Given the description of an element on the screen output the (x, y) to click on. 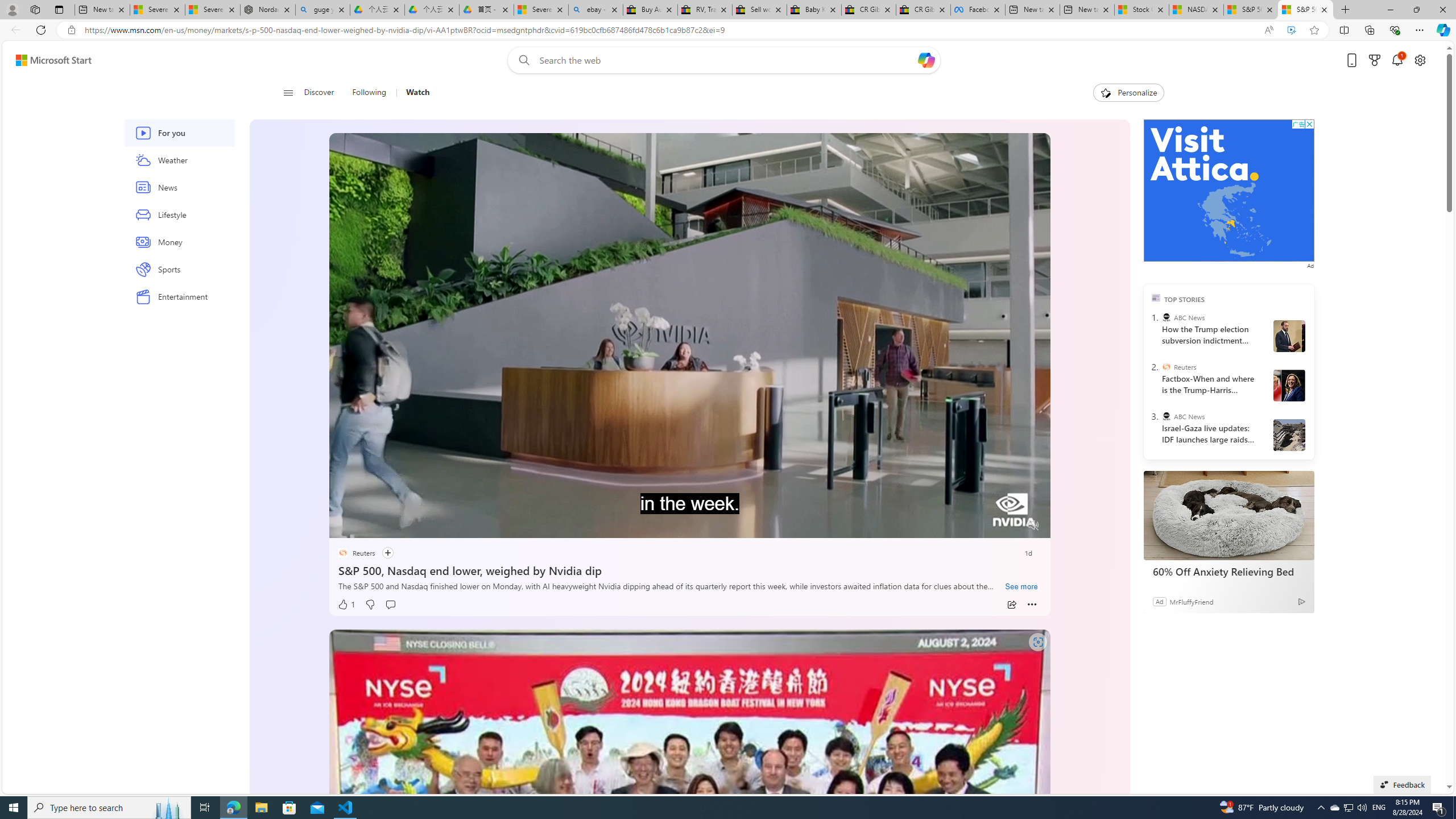
Seek Back (368, 525)
More (1031, 604)
guge yunpan - Search (323, 9)
Web search (520, 60)
Enter your search term (726, 59)
RV, Trailer & Camper Steps & Ladders for sale | eBay (704, 9)
Advertisement (1228, 190)
